Given the description of an element on the screen output the (x, y) to click on. 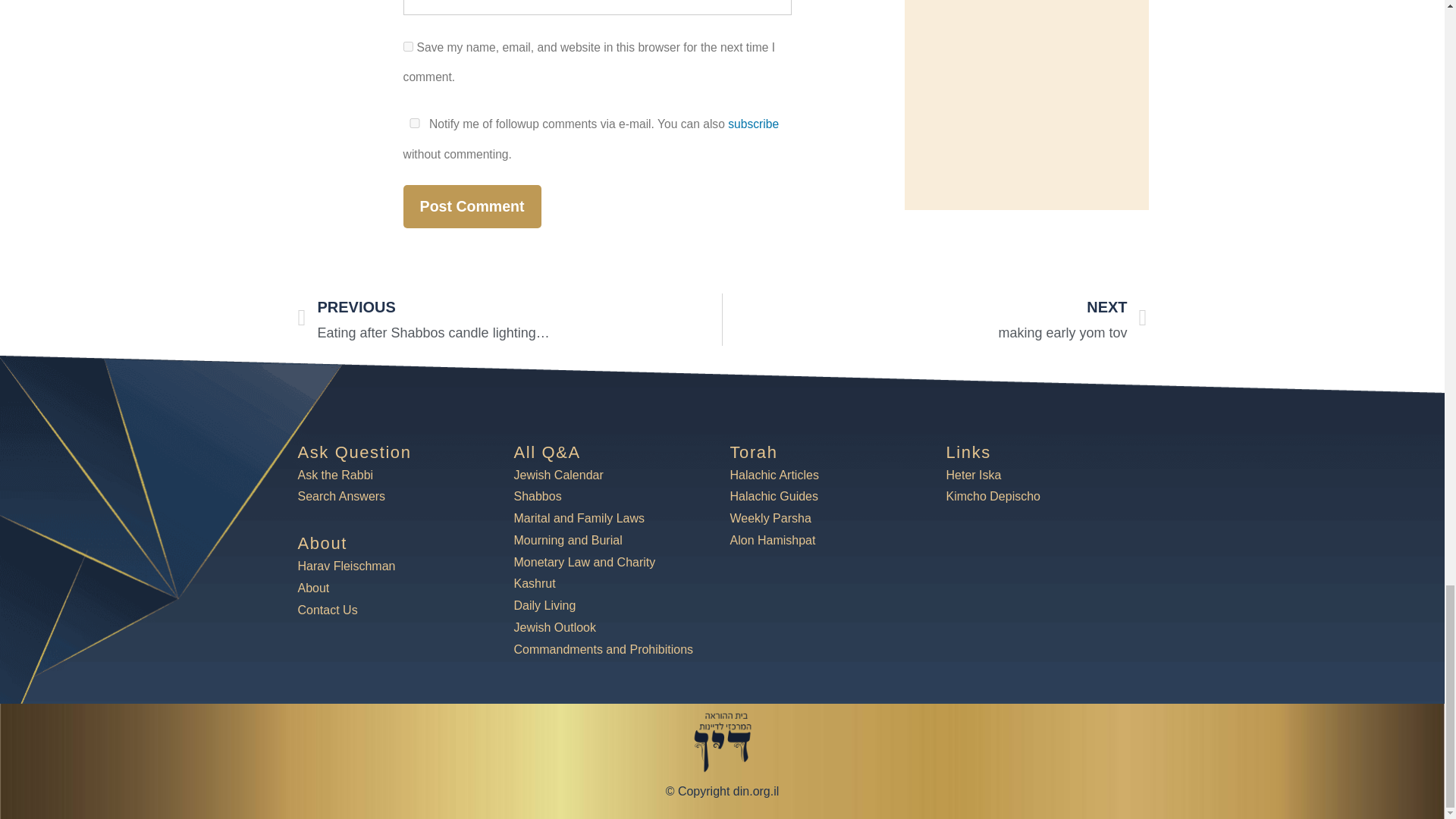
Post Comment (472, 206)
yes (408, 46)
yes (414, 122)
